Given the description of an element on the screen output the (x, y) to click on. 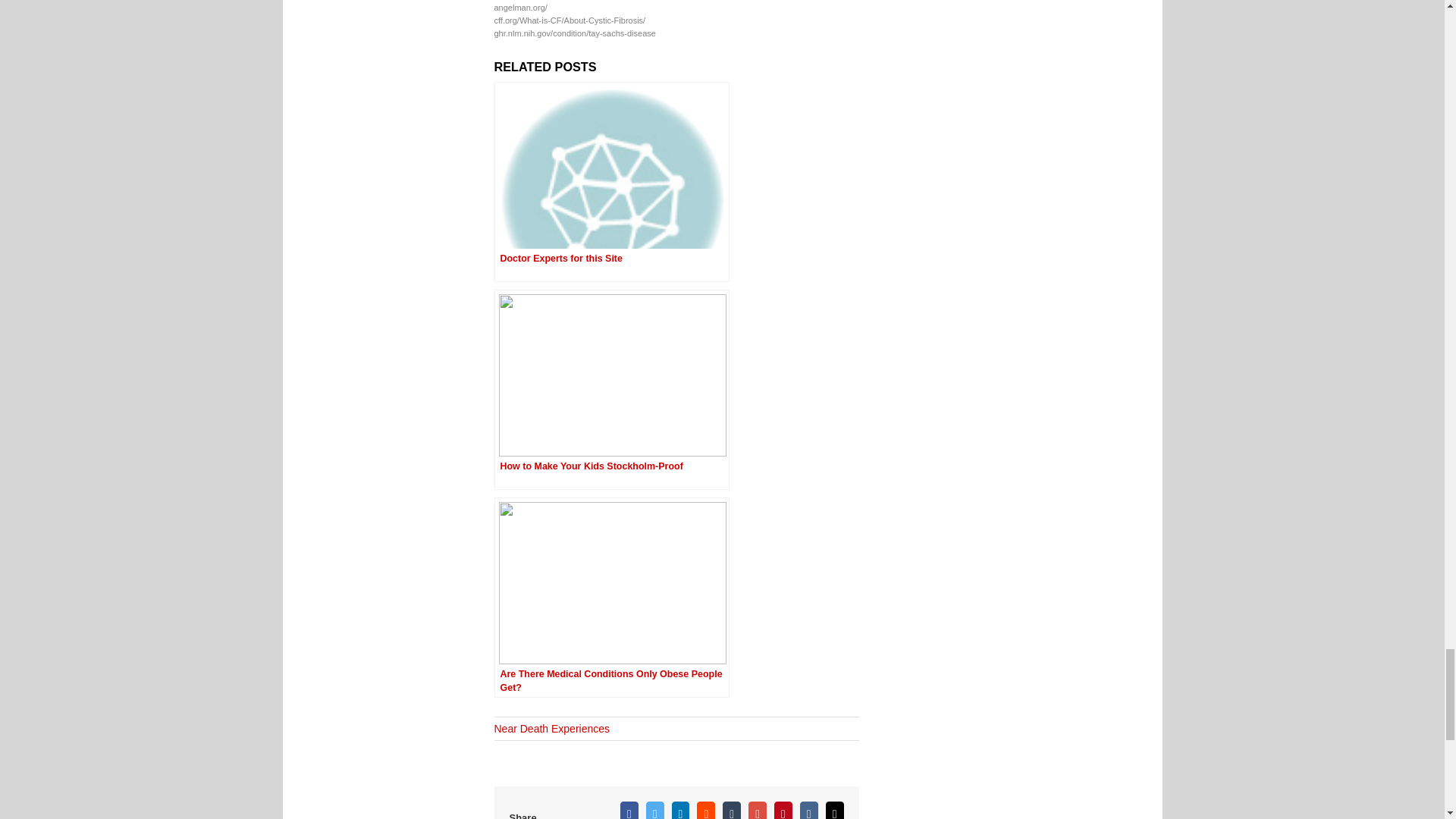
Are There Medical Conditions Only Obese People Get? (612, 597)
Facebook (629, 810)
Twitter (654, 810)
Reddit (705, 810)
Tumblr (731, 810)
Vk (808, 810)
Pinterest (783, 810)
Email (834, 810)
Doctor Experts for this Site (612, 181)
Linkedin (680, 810)
How to Make Your Kids Stockholm-Proof (612, 389)
